Given the description of an element on the screen output the (x, y) to click on. 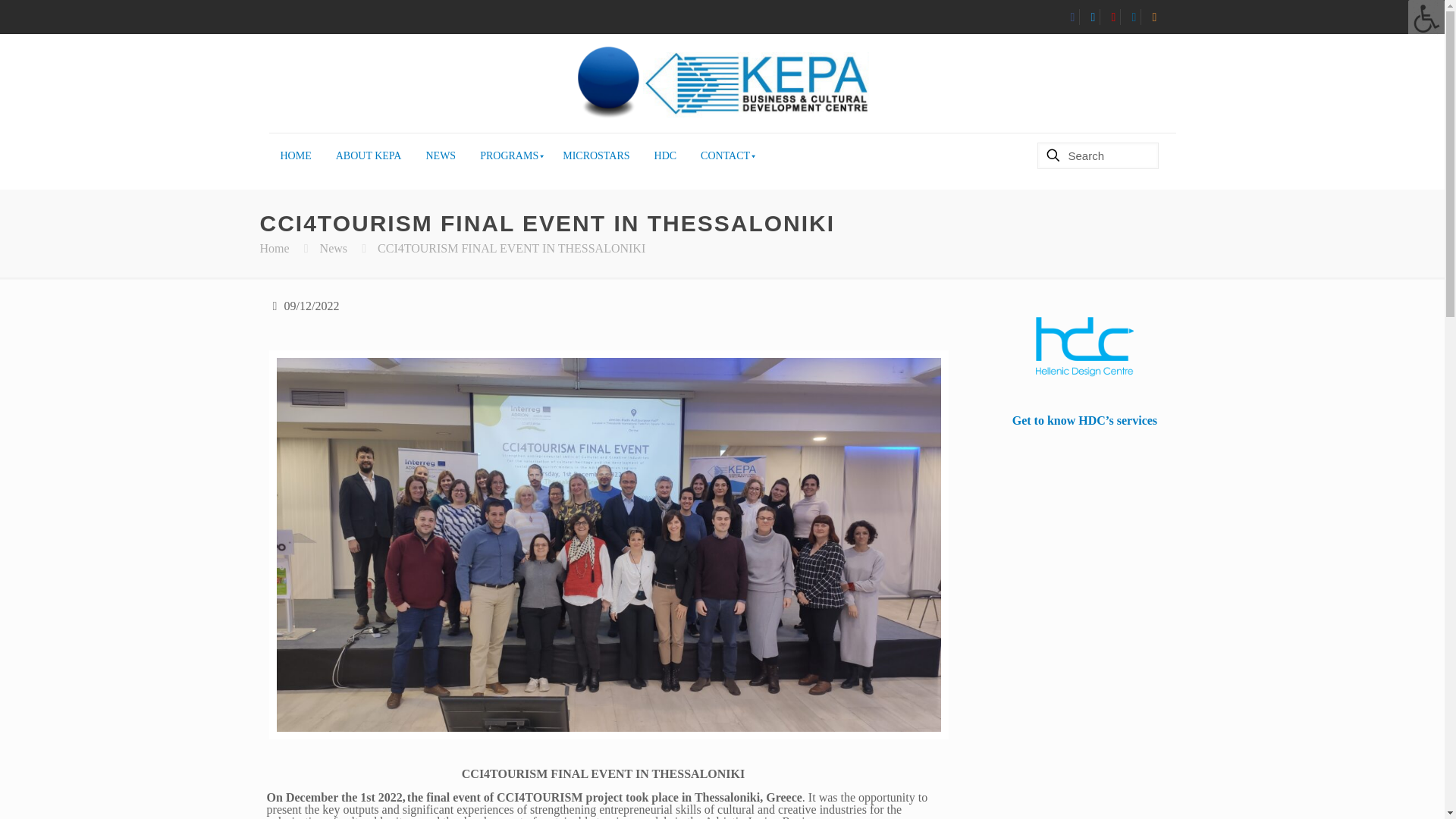
HDC (666, 156)
HOME (295, 156)
MICROSTARS (596, 156)
PROGRAMS (509, 156)
CCI4TOURISM FINAL EVENT IN THESSALONIKI  (512, 247)
CONTACT (724, 156)
Home (273, 247)
ABOUT KEPA (369, 156)
NEWS (440, 156)
News (333, 247)
